Given the description of an element on the screen output the (x, y) to click on. 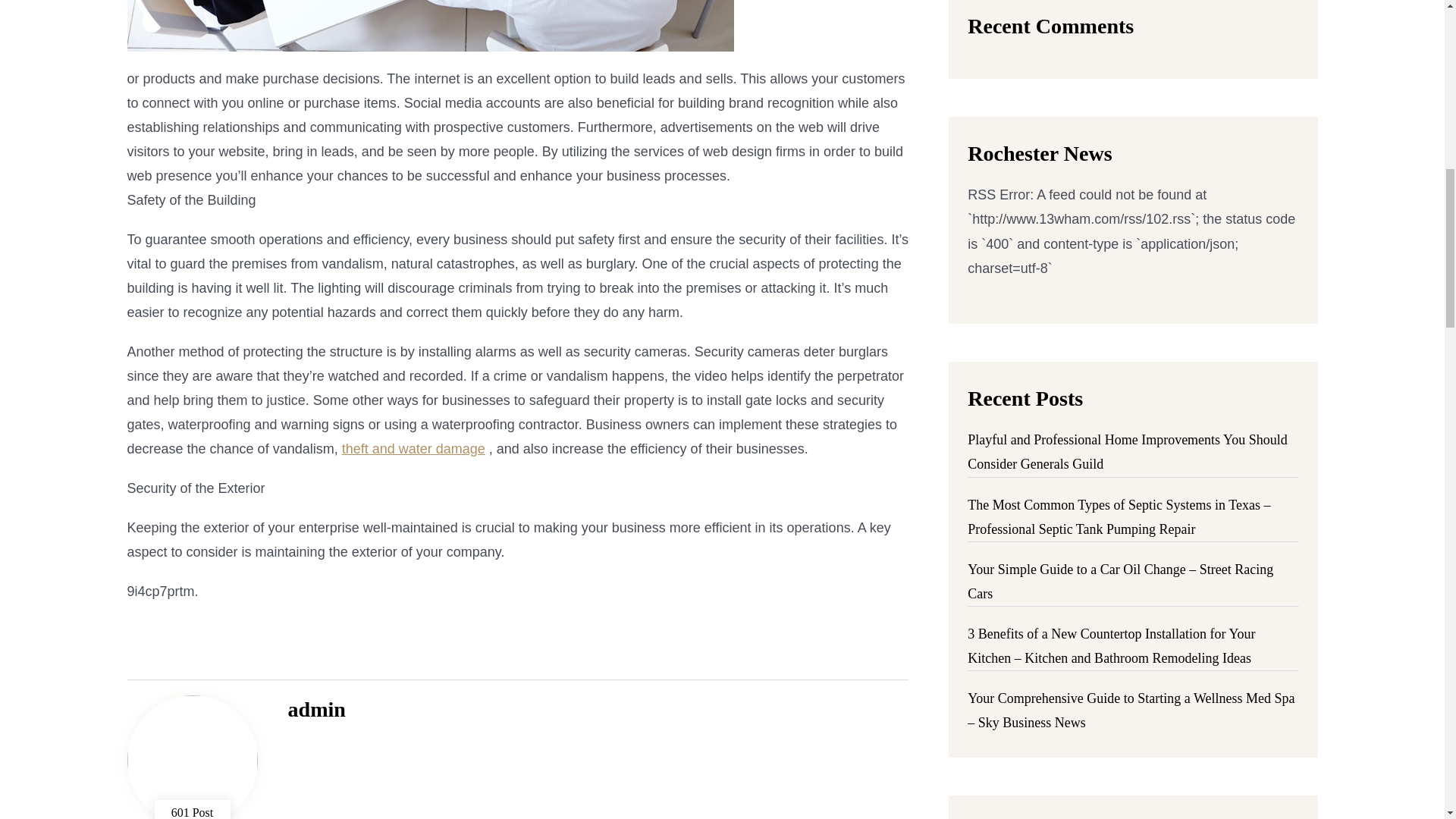
theft and water damage (413, 448)
